Given the description of an element on the screen output the (x, y) to click on. 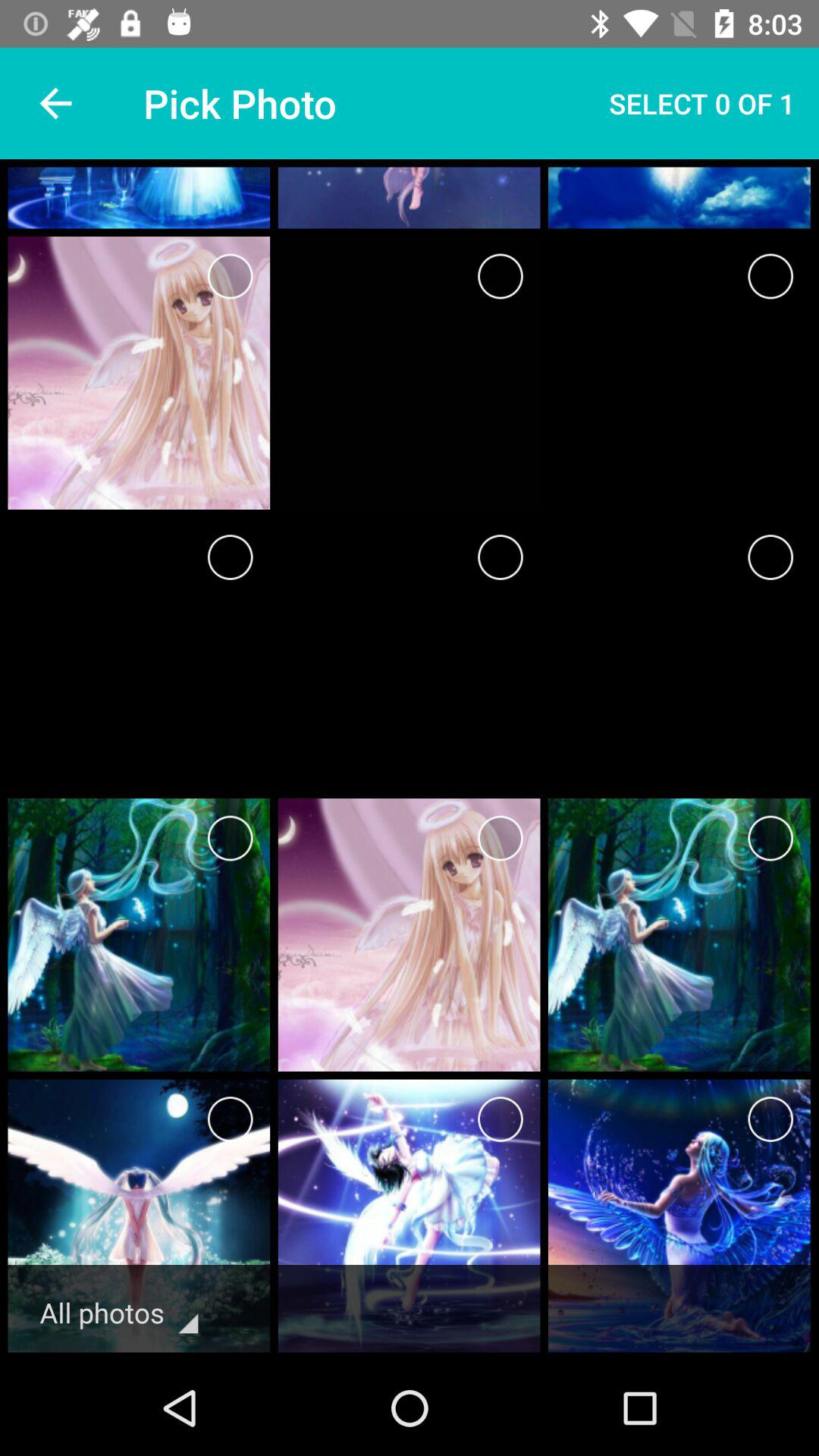
option (230, 557)
